Given the description of an element on the screen output the (x, y) to click on. 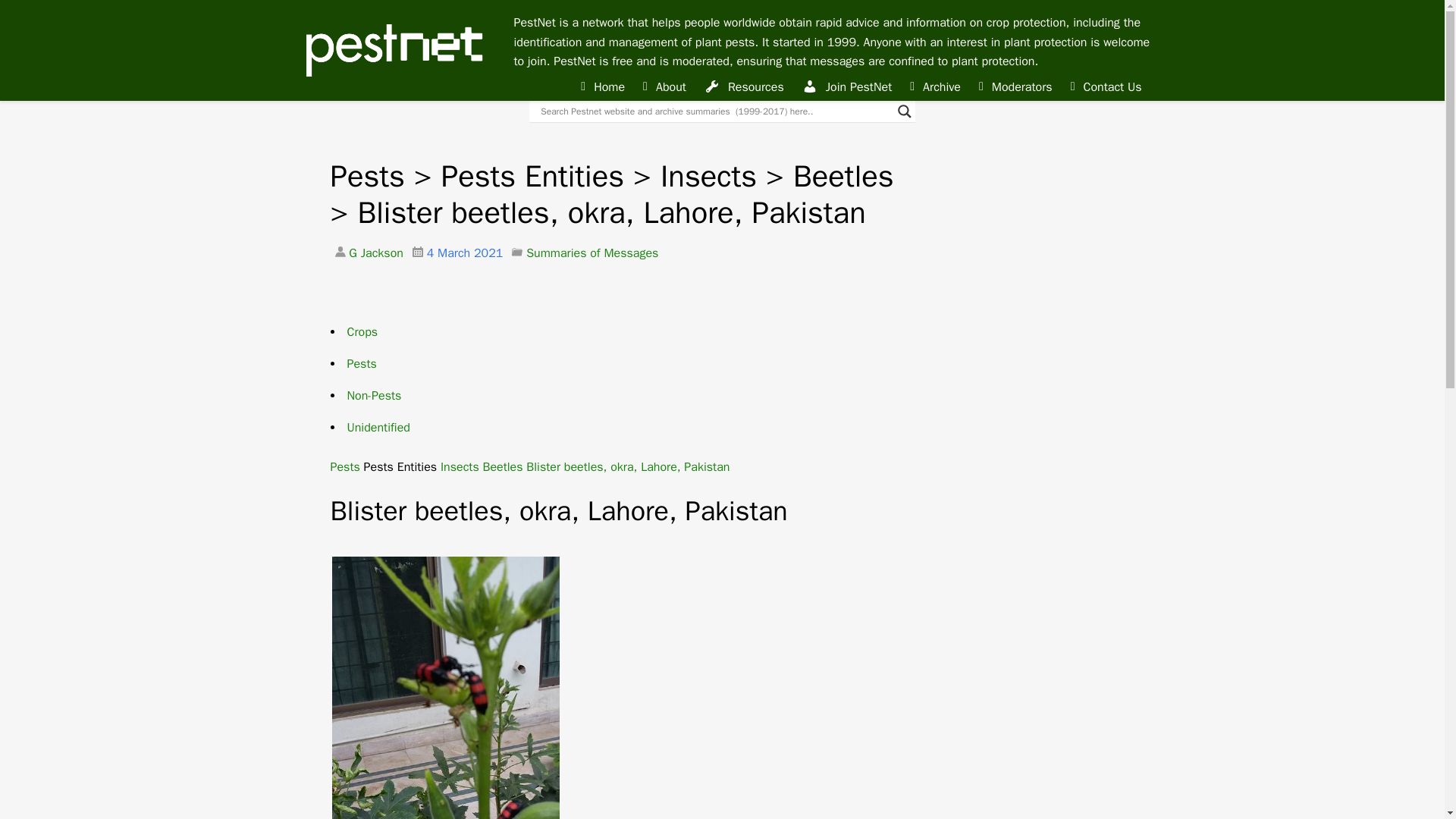
Pests (344, 467)
G Jackson (374, 253)
Join PestNet (847, 87)
Blister beetles, okra, Lahore, Pakistan (627, 467)
Archive (935, 87)
Unidentified (378, 427)
Insects (460, 467)
About (664, 87)
Summaries of Messages (591, 253)
Pests (362, 363)
Crops (362, 331)
Resources (744, 87)
Home Page (393, 49)
Contact Us (1106, 87)
Non-Pests (374, 395)
